Given the description of an element on the screen output the (x, y) to click on. 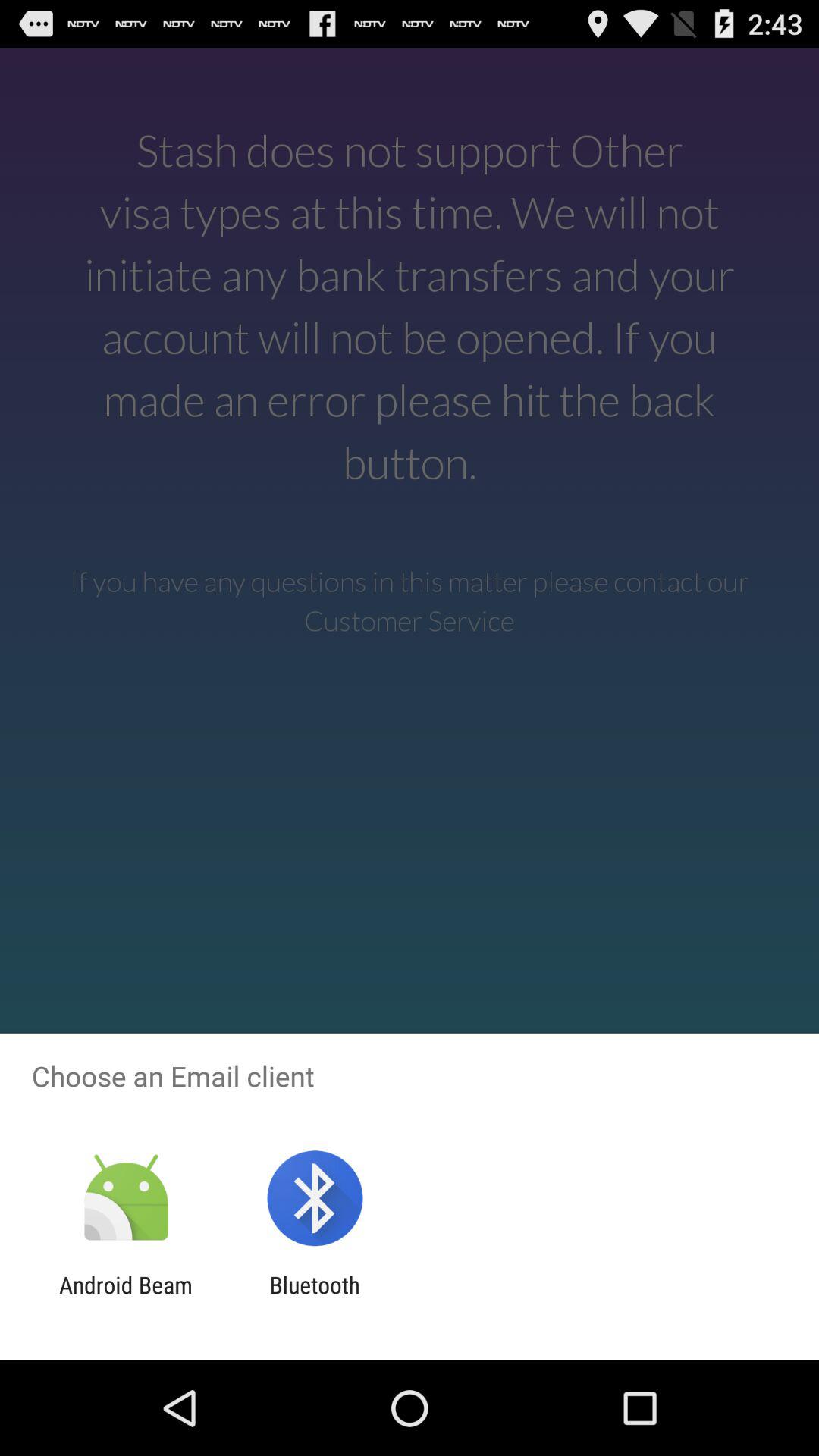
click icon next to bluetooth (125, 1298)
